Given the description of an element on the screen output the (x, y) to click on. 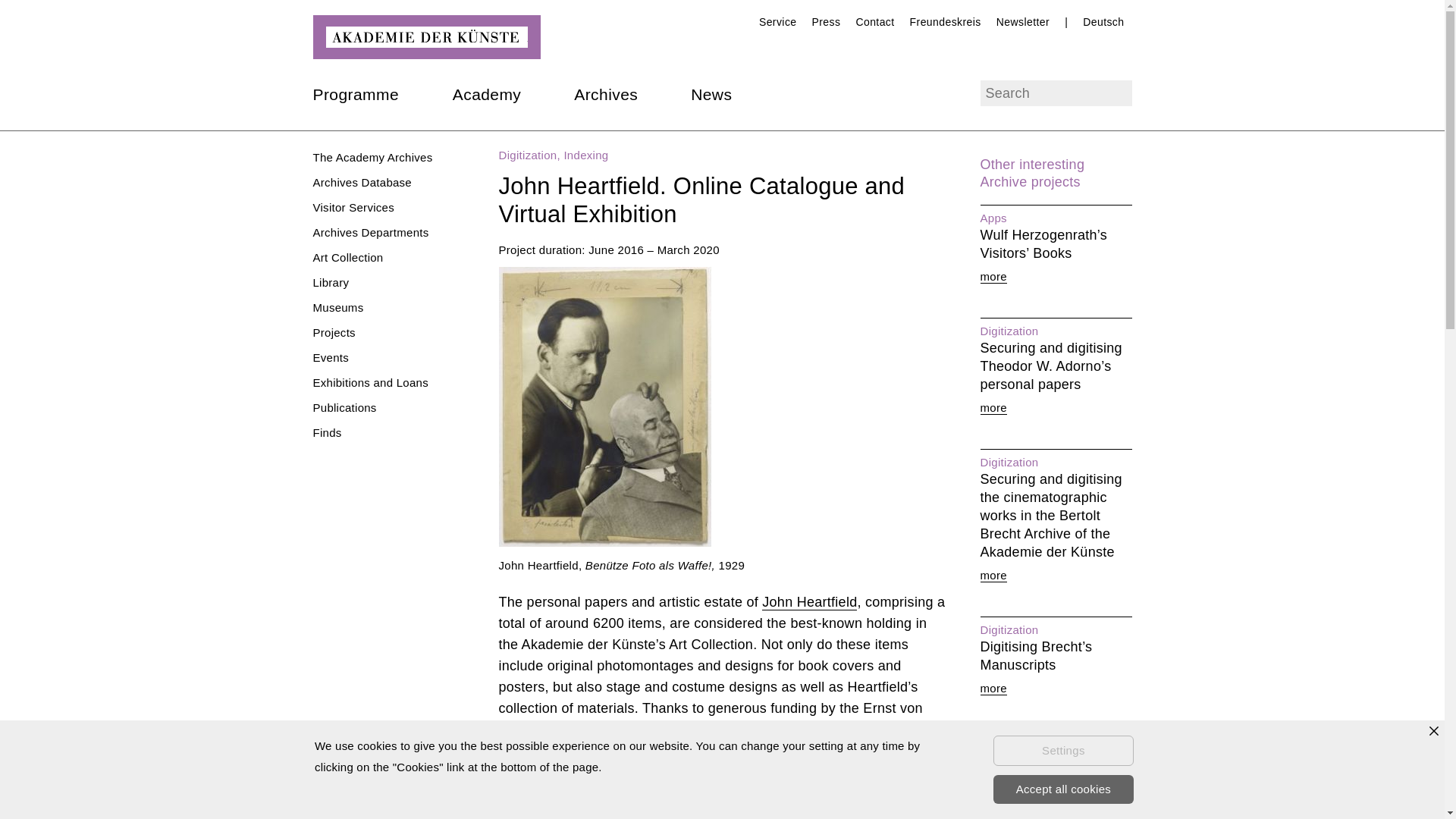
Archives Departments (370, 232)
more (992, 575)
Press (826, 21)
Events (330, 357)
Visitor Services (353, 206)
more (992, 407)
Projects (334, 332)
The Academy Archives (372, 156)
Library (331, 282)
Museums (337, 307)
Newsletter (1022, 21)
Archives Database (362, 182)
Art Collection (347, 256)
Programme (355, 94)
Exhibitions and Loans (370, 382)
